Given the description of an element on the screen output the (x, y) to click on. 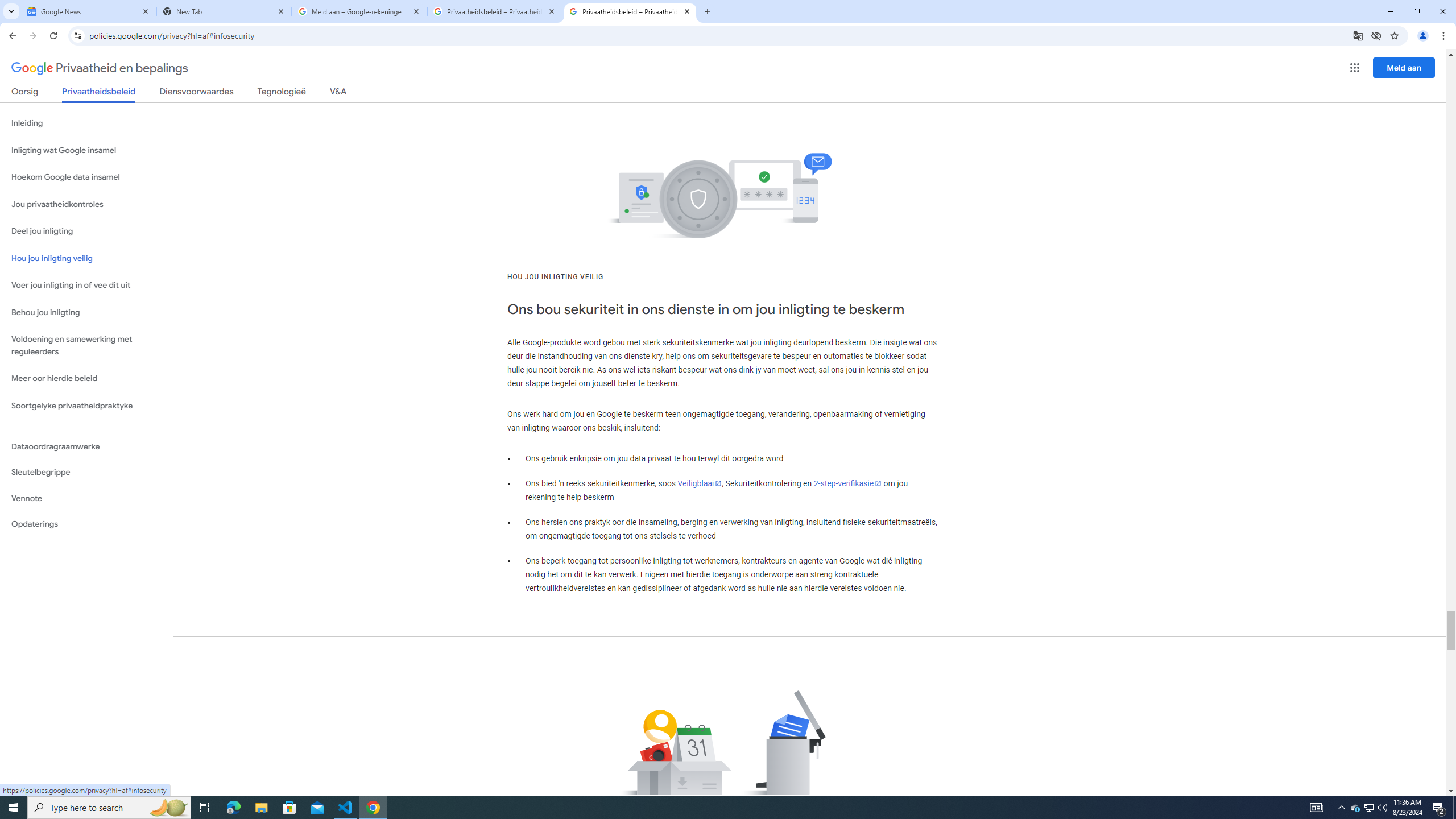
Sleutelbegrippe (86, 472)
Inleiding (86, 122)
Vennote (86, 497)
Soortgelyke privaatheidpraktyke (86, 405)
Google News (88, 11)
Hou jou inligting veilig (86, 258)
New Tab (224, 11)
Privaatheidsbeleid (98, 94)
Diensvoorwaardes (196, 93)
Oorsig (25, 93)
